Given the description of an element on the screen output the (x, y) to click on. 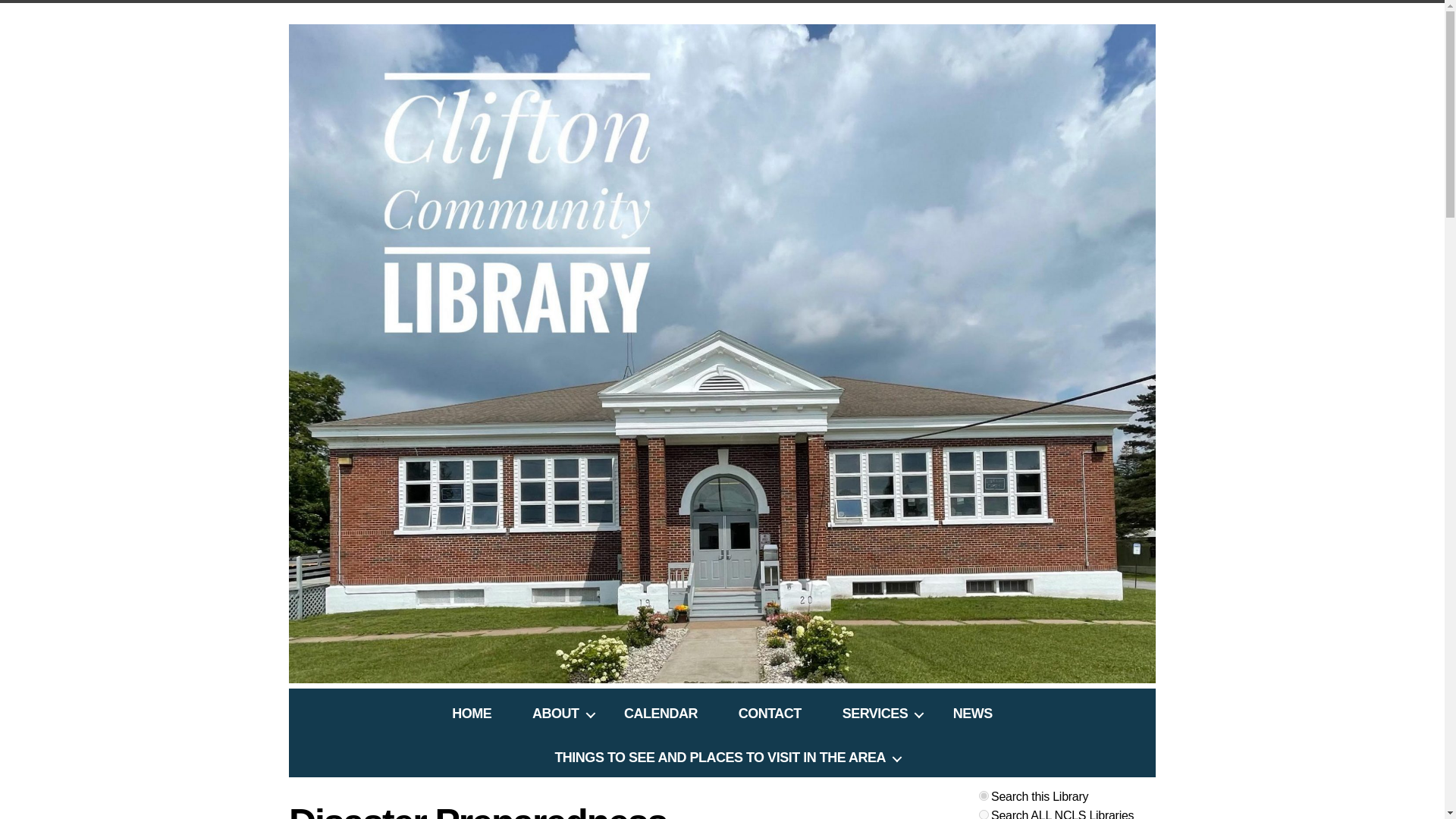
NEWS (972, 713)
option2 (983, 814)
HOME (471, 713)
option1 (983, 795)
ABOUT (557, 713)
SERVICES (877, 713)
CALENDAR (660, 713)
THINGS TO SEE AND PLACES TO VISIT IN THE AREA (722, 758)
CONTACT (769, 713)
